Given the description of an element on the screen output the (x, y) to click on. 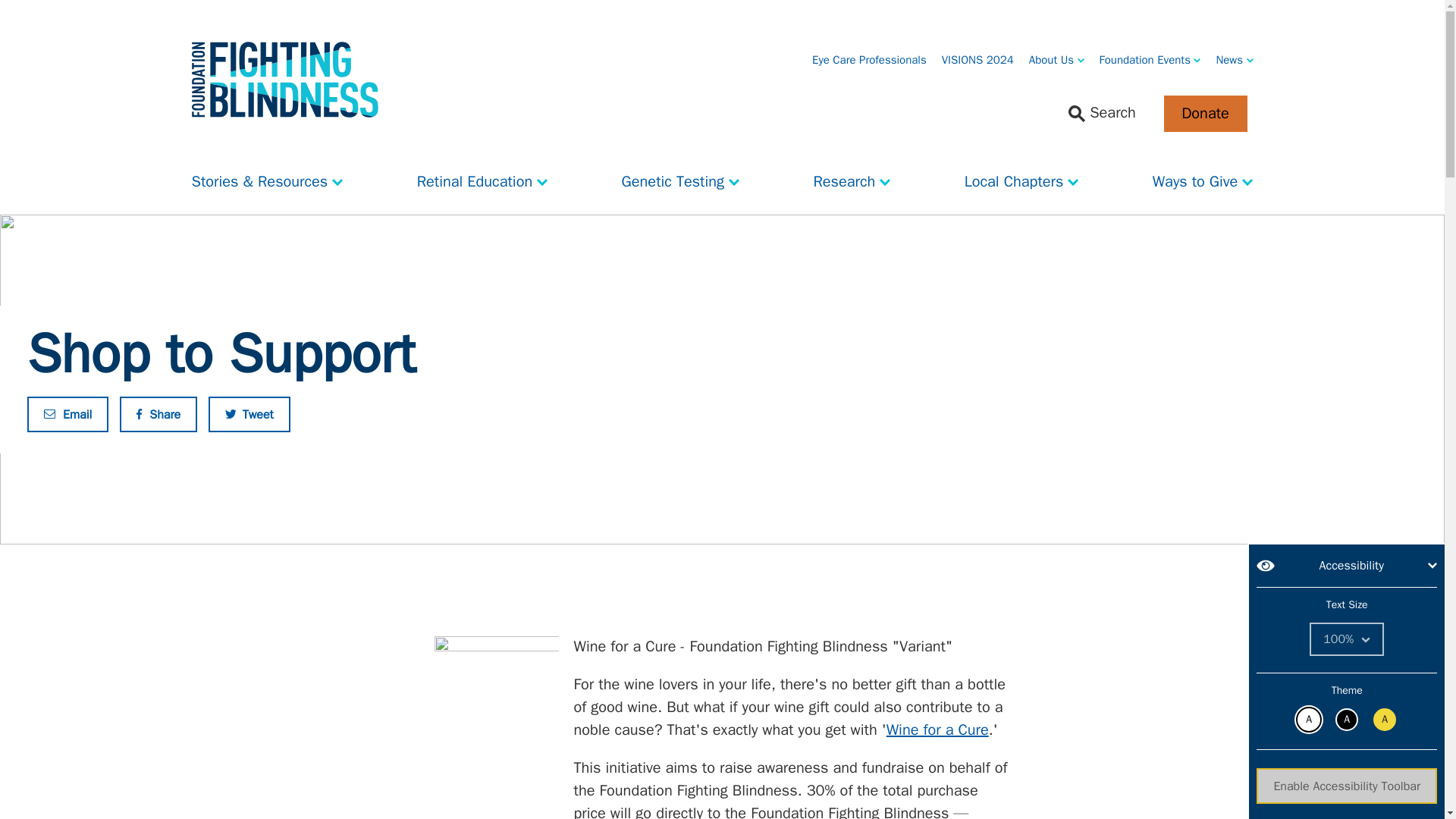
Search (1101, 113)
Donate (1204, 113)
Foundation Fighting Blindness homepage (283, 80)
Retinal Education (482, 177)
